Given the description of an element on the screen output the (x, y) to click on. 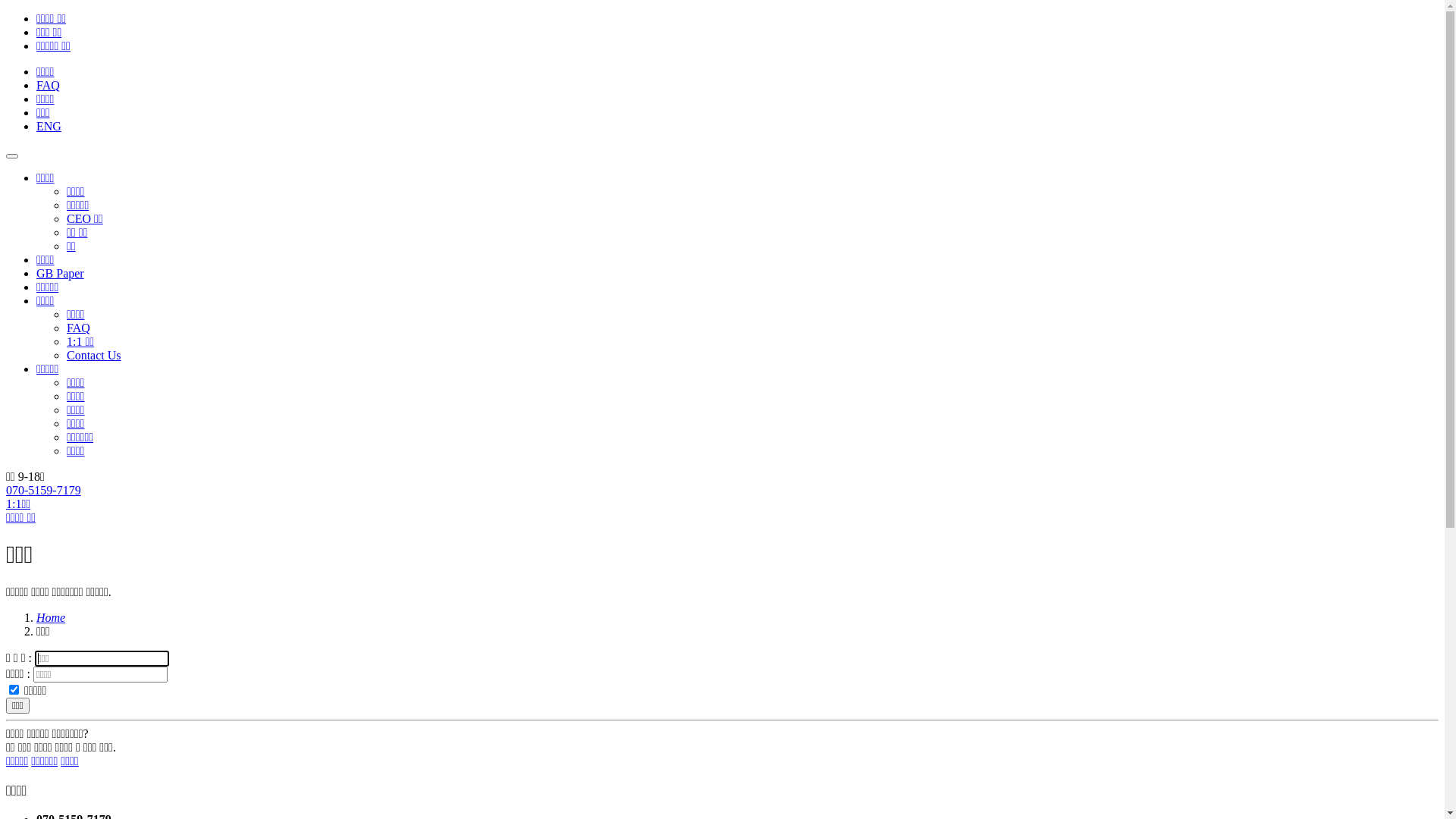
Home Element type: text (50, 617)
FAQ Element type: text (78, 327)
ENG Element type: text (48, 125)
Contact Us Element type: text (93, 354)
070-5159-7179 Element type: text (43, 489)
FAQ Element type: text (47, 84)
GB Paper Element type: text (60, 272)
